Given the description of an element on the screen output the (x, y) to click on. 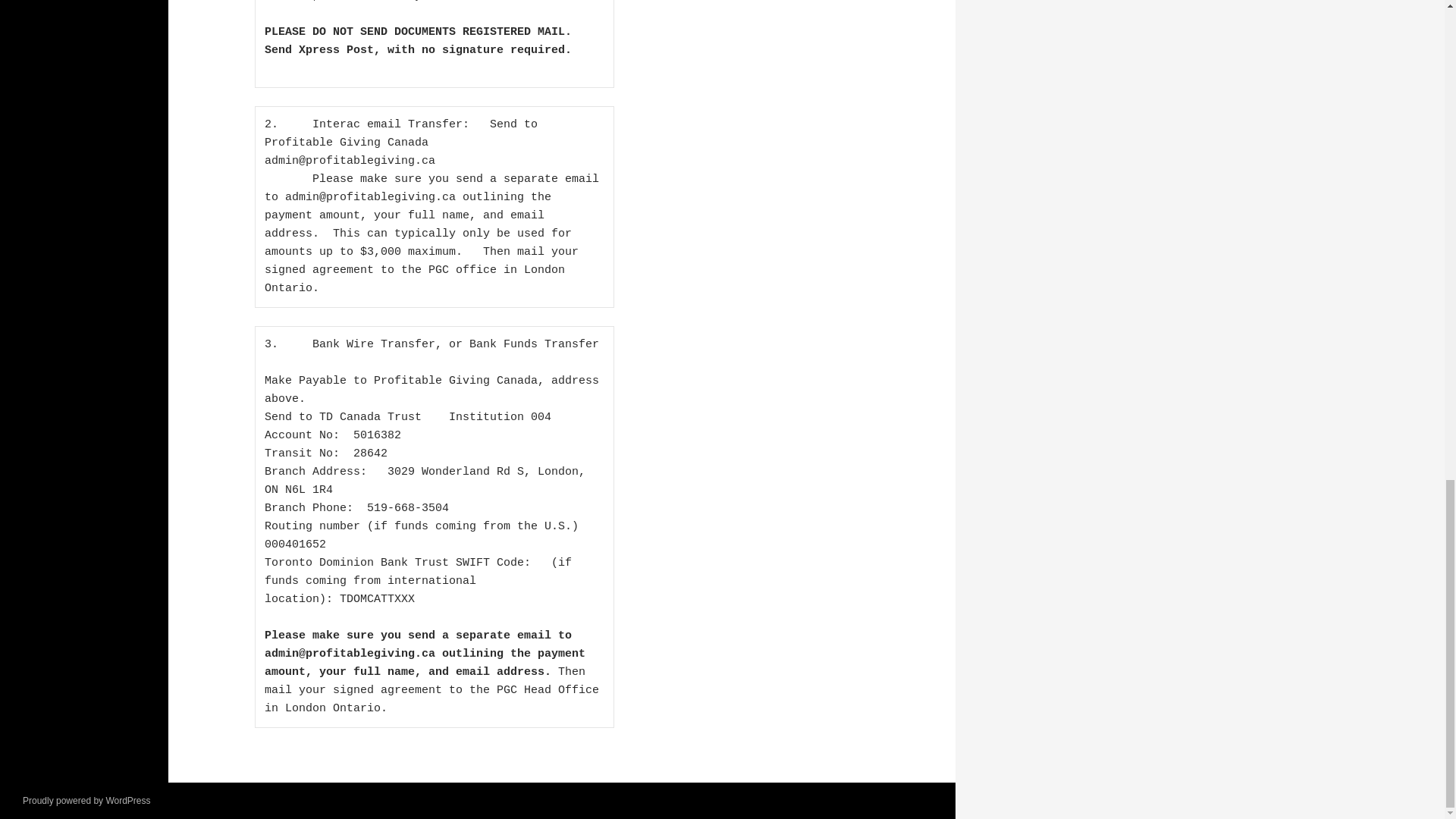
Proudly powered by WordPress (87, 800)
